Given the description of an element on the screen output the (x, y) to click on. 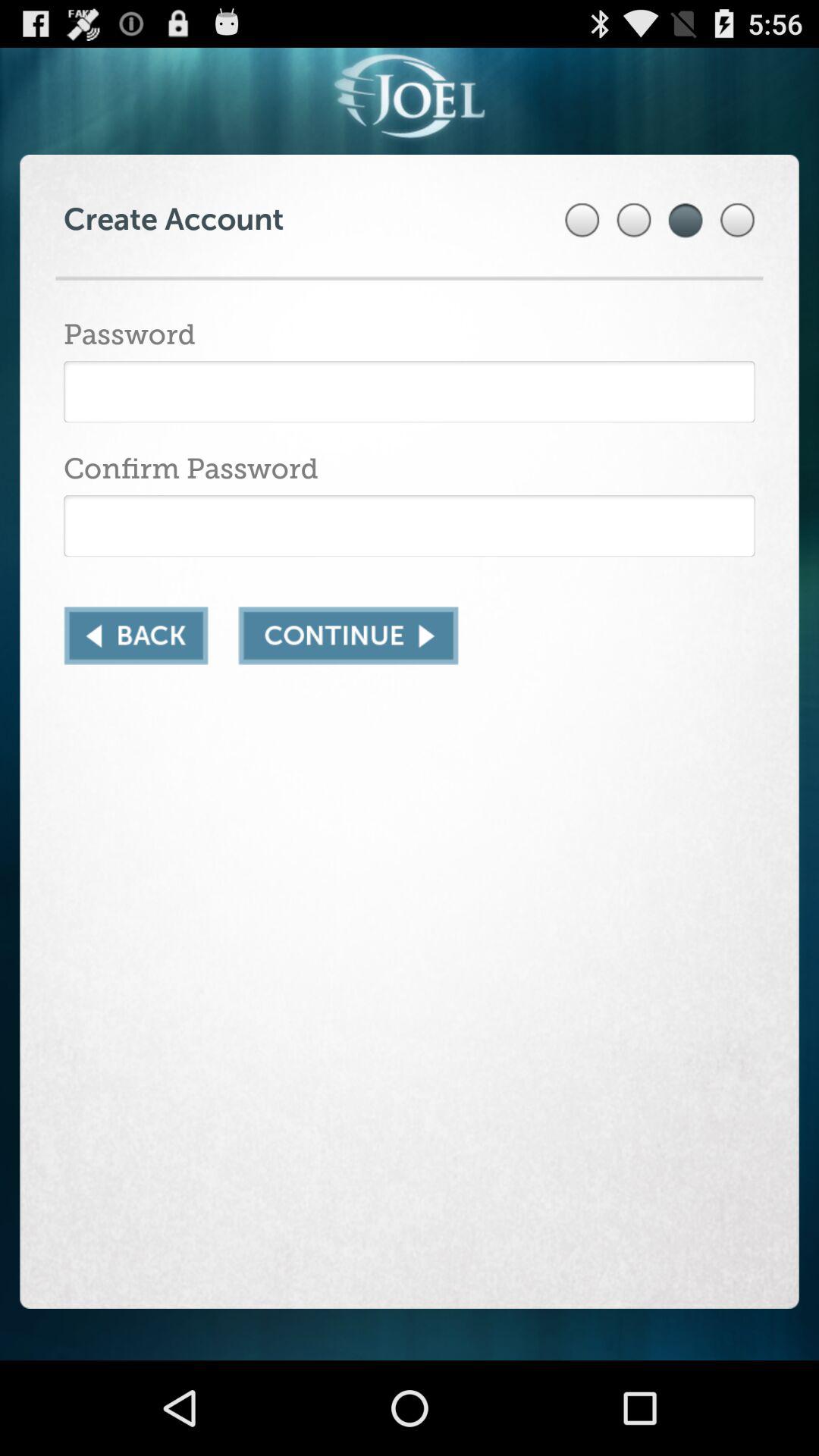
go back (135, 635)
